Given the description of an element on the screen output the (x, y) to click on. 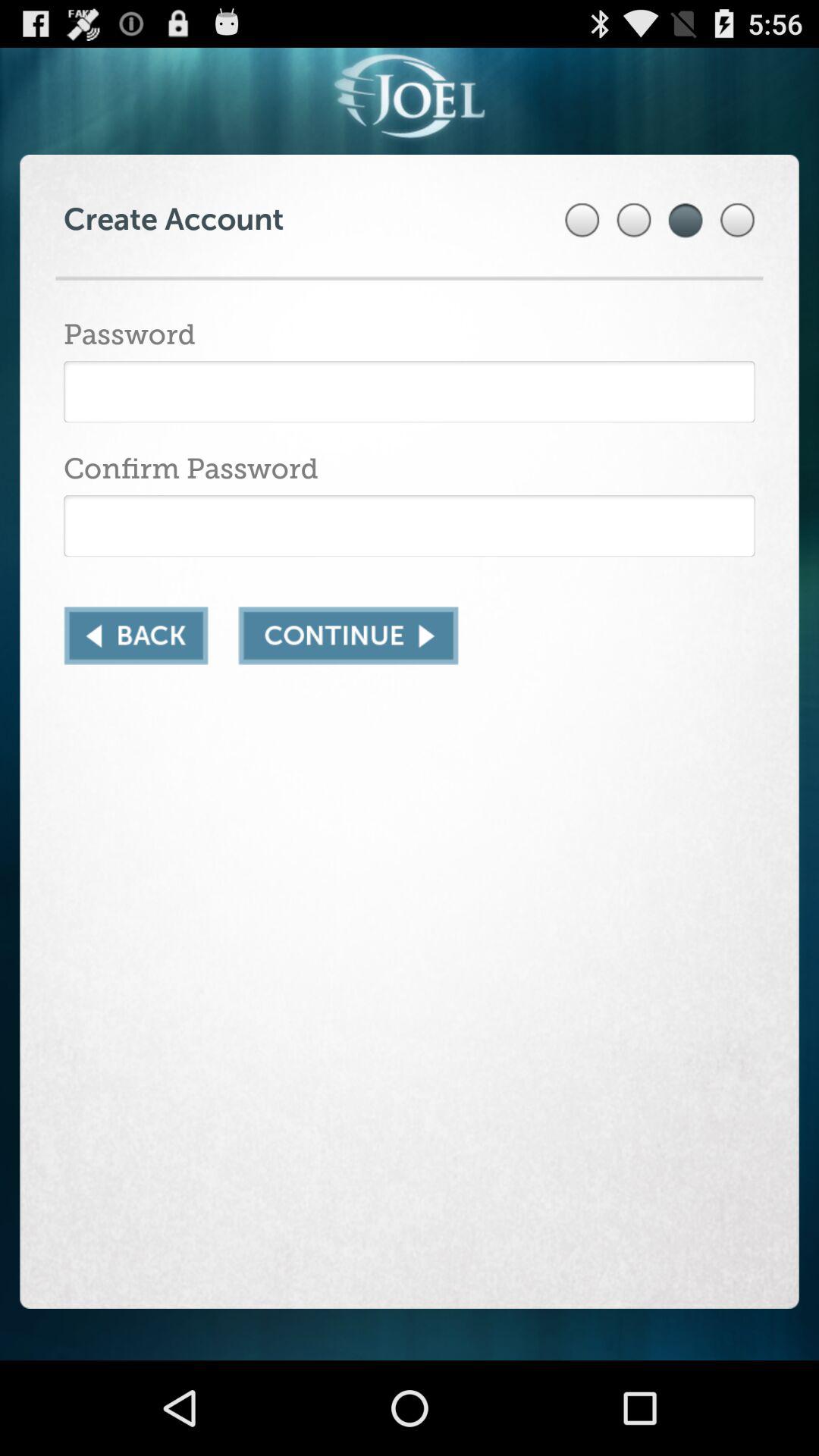
go back (135, 635)
